Given the description of an element on the screen output the (x, y) to click on. 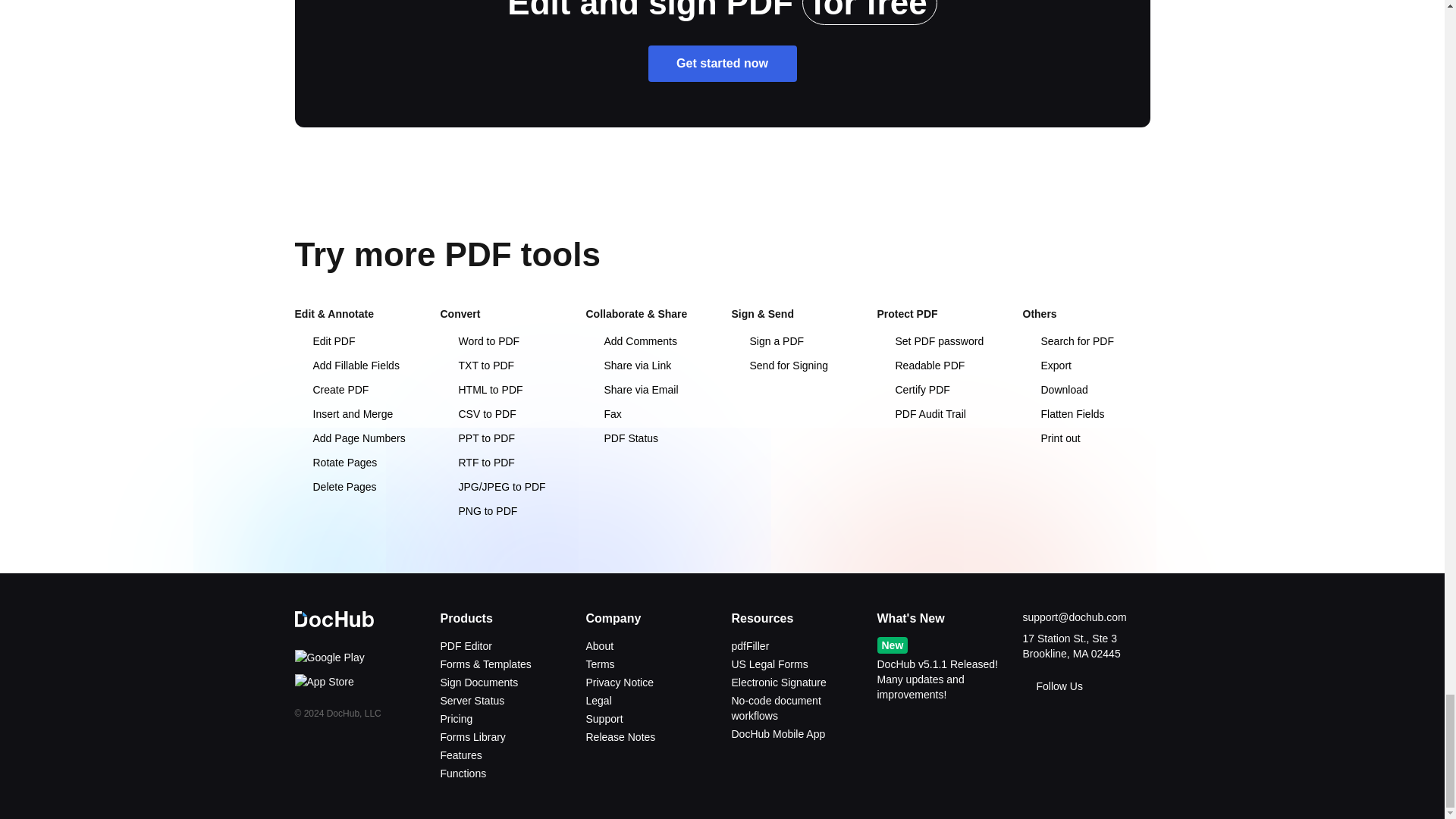
Word to PDF (479, 340)
Get started now (721, 63)
Share via Link (628, 365)
Edit PDF (324, 340)
PPT to PDF (476, 438)
PNG to PDF (477, 510)
Add Page Numbers (349, 438)
Add Comments (631, 340)
HTML to PDF (480, 389)
TXT to PDF (476, 365)
